Given the description of an element on the screen output the (x, y) to click on. 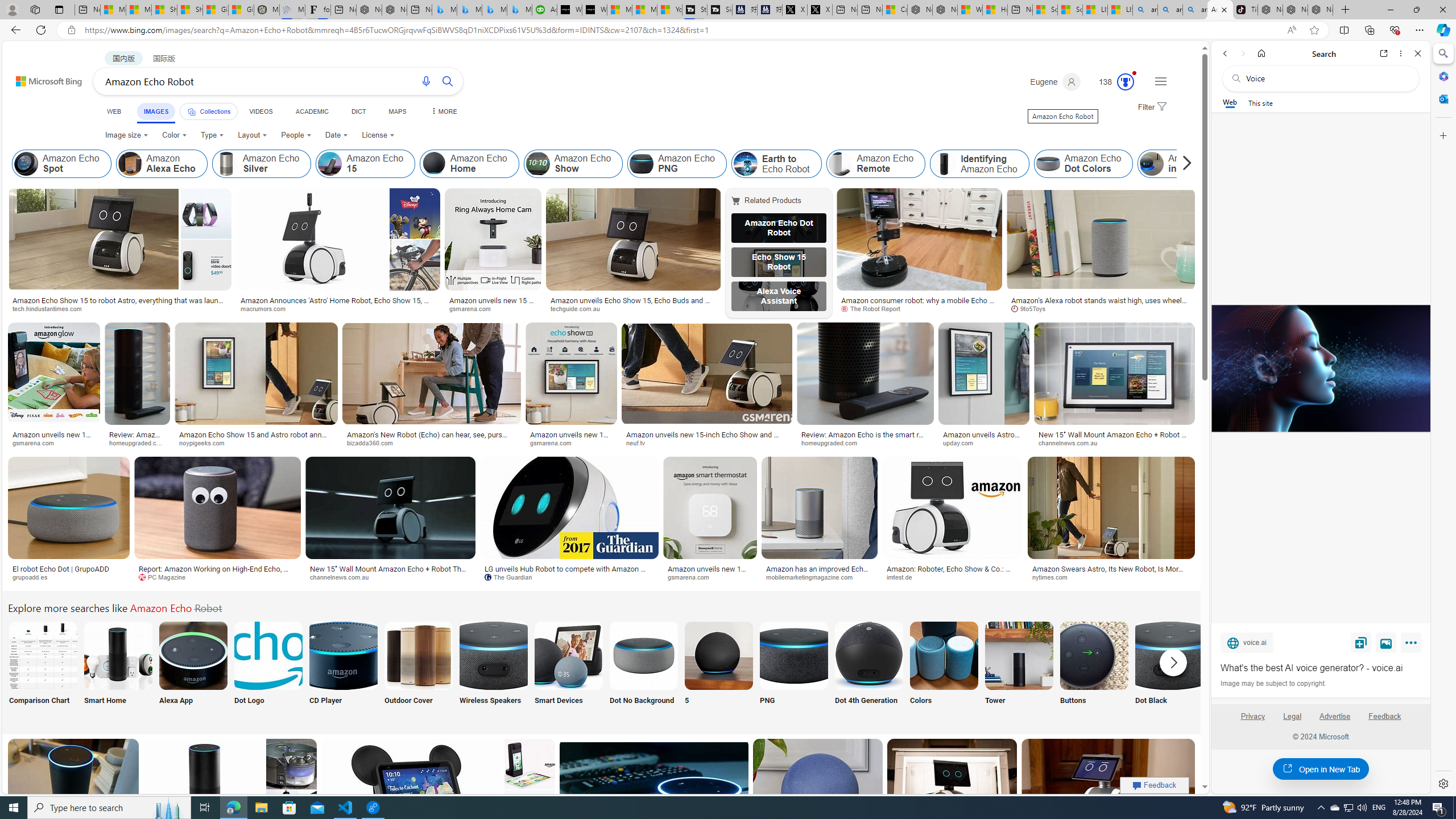
noypigeeks.com (205, 442)
Amazon Echo in Action (1187, 163)
Amazon Echo Comparison Chart (42, 654)
Dot Black (1169, 669)
Microsoft Rewards 135 (1111, 81)
nytimes.com (1053, 576)
Amazon Echo Dot Logo (268, 654)
Amazon Echo PNG (676, 163)
Search using voice (426, 80)
